Given the description of an element on the screen output the (x, y) to click on. 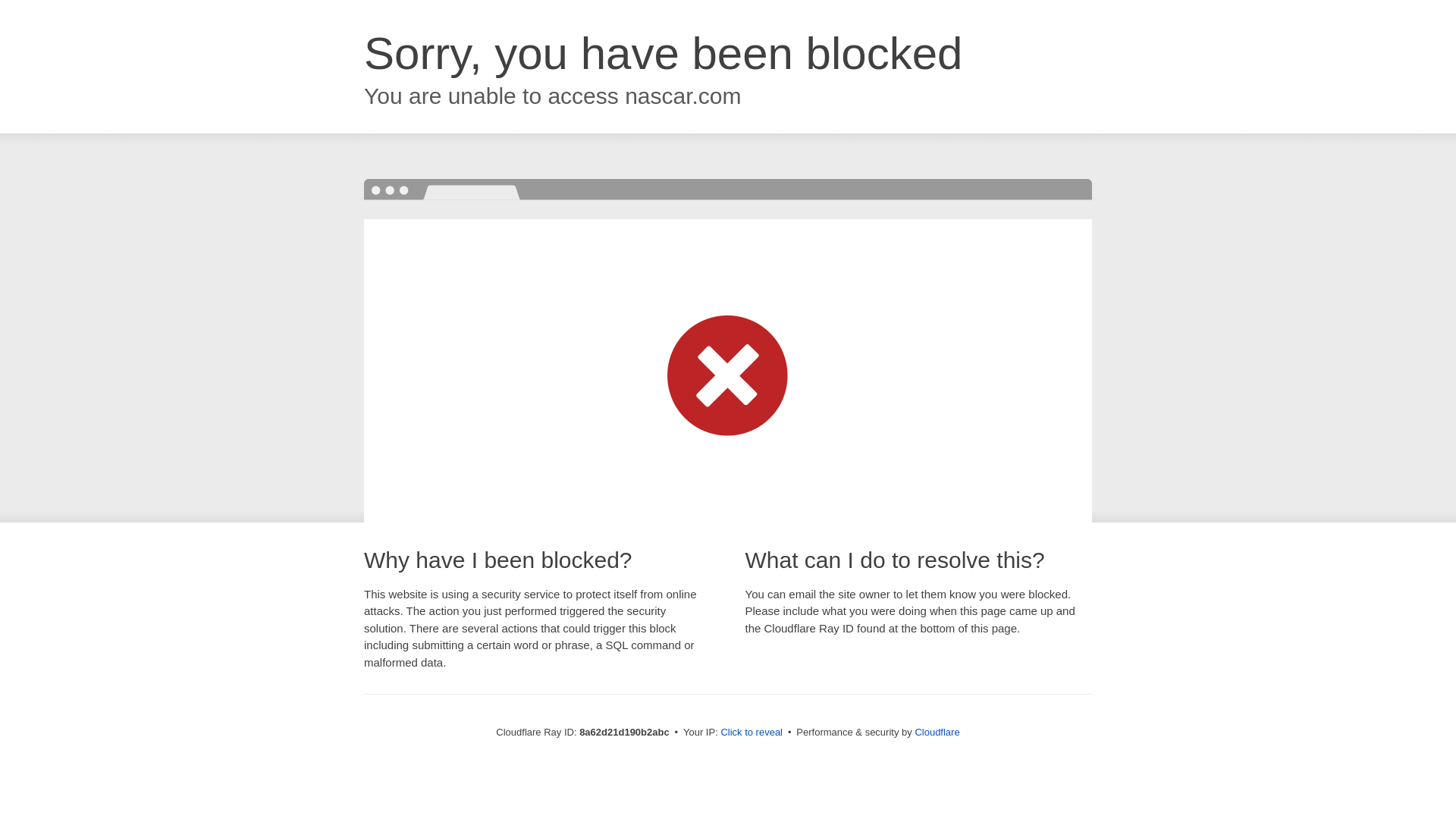
Click to reveal (751, 732)
Cloudflare (936, 731)
